Given the description of an element on the screen output the (x, y) to click on. 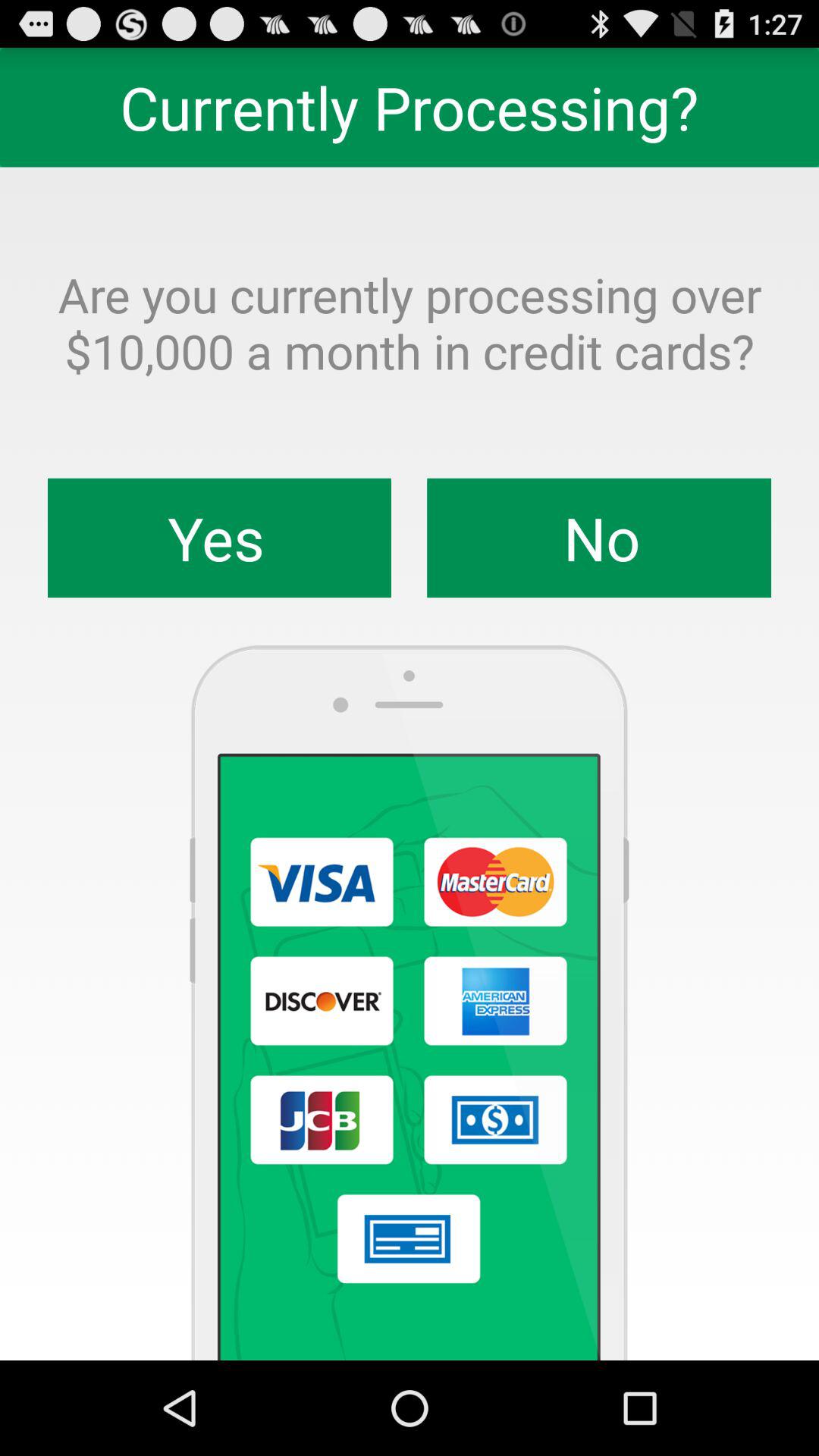
scroll to the no (599, 537)
